Given the description of an element on the screen output the (x, y) to click on. 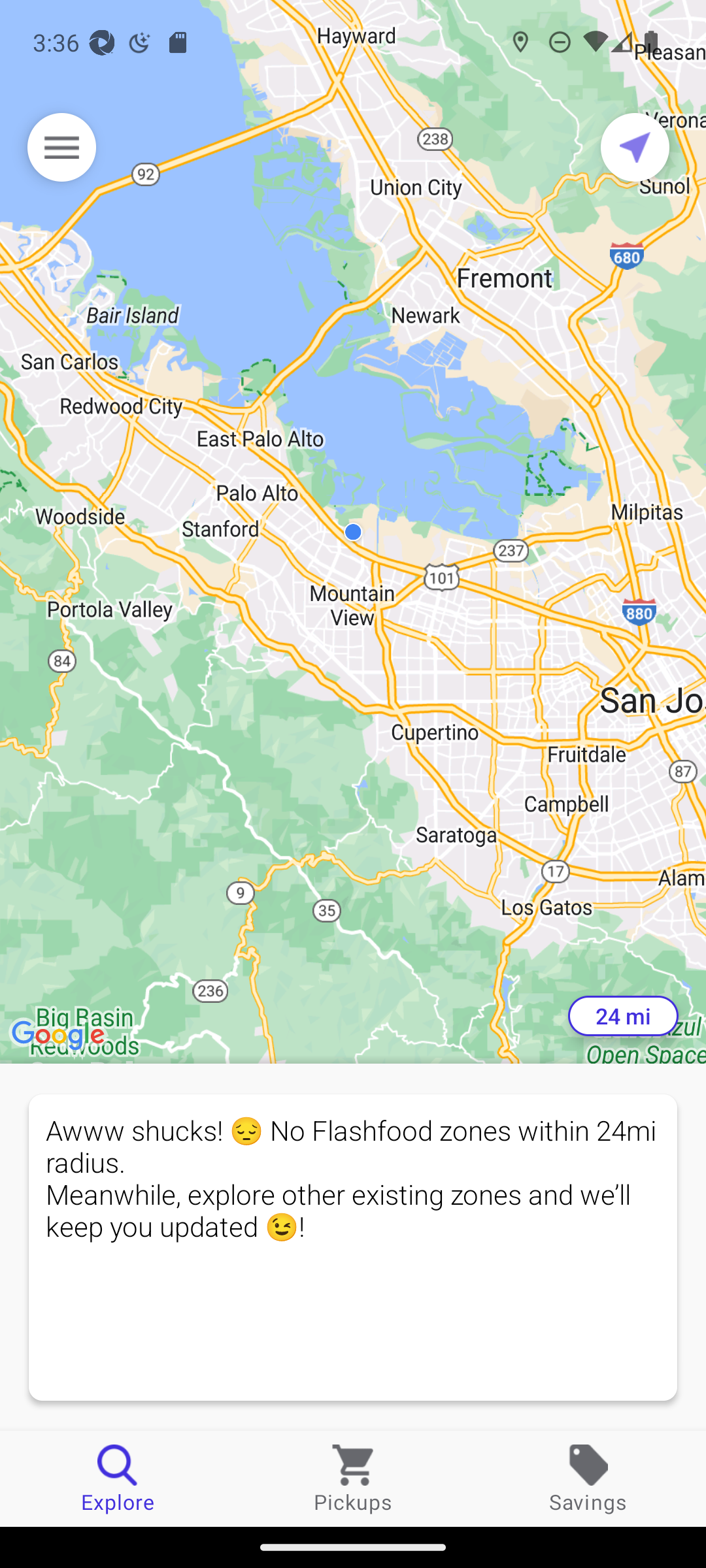
Menu (61, 146)
Current location (634, 146)
24 mi (623, 1015)
Pickups (352, 1478)
Savings (588, 1478)
